Given the description of an element on the screen output the (x, y) to click on. 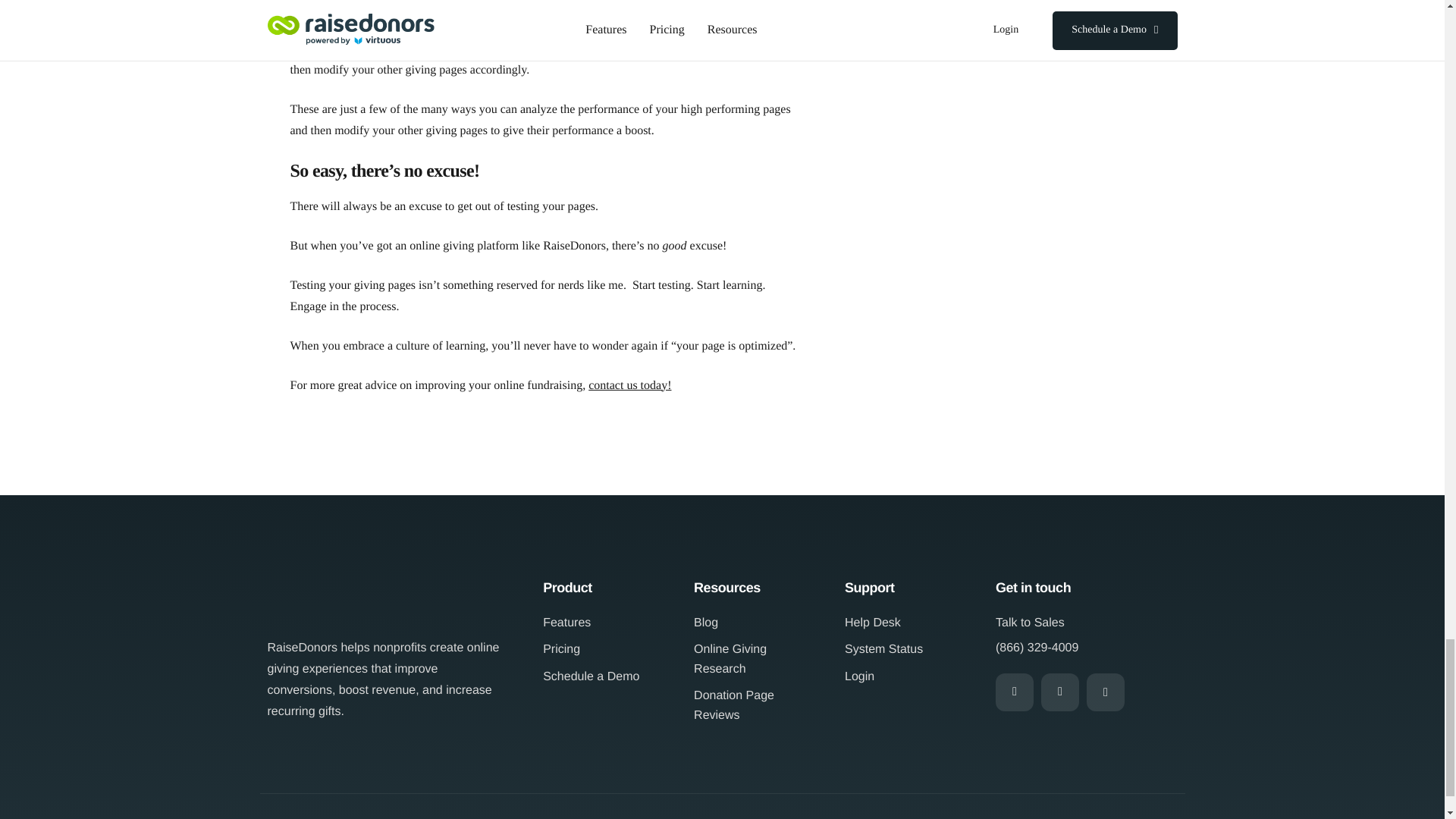
Talk to Sales (1029, 623)
Pricing (561, 649)
Login (859, 677)
System Status (883, 649)
Online Giving Research (758, 658)
Schedule a Demo (591, 677)
Donation Page Reviews (758, 705)
Help Desk (872, 623)
Features (567, 623)
Blog (705, 623)
